Given the description of an element on the screen output the (x, y) to click on. 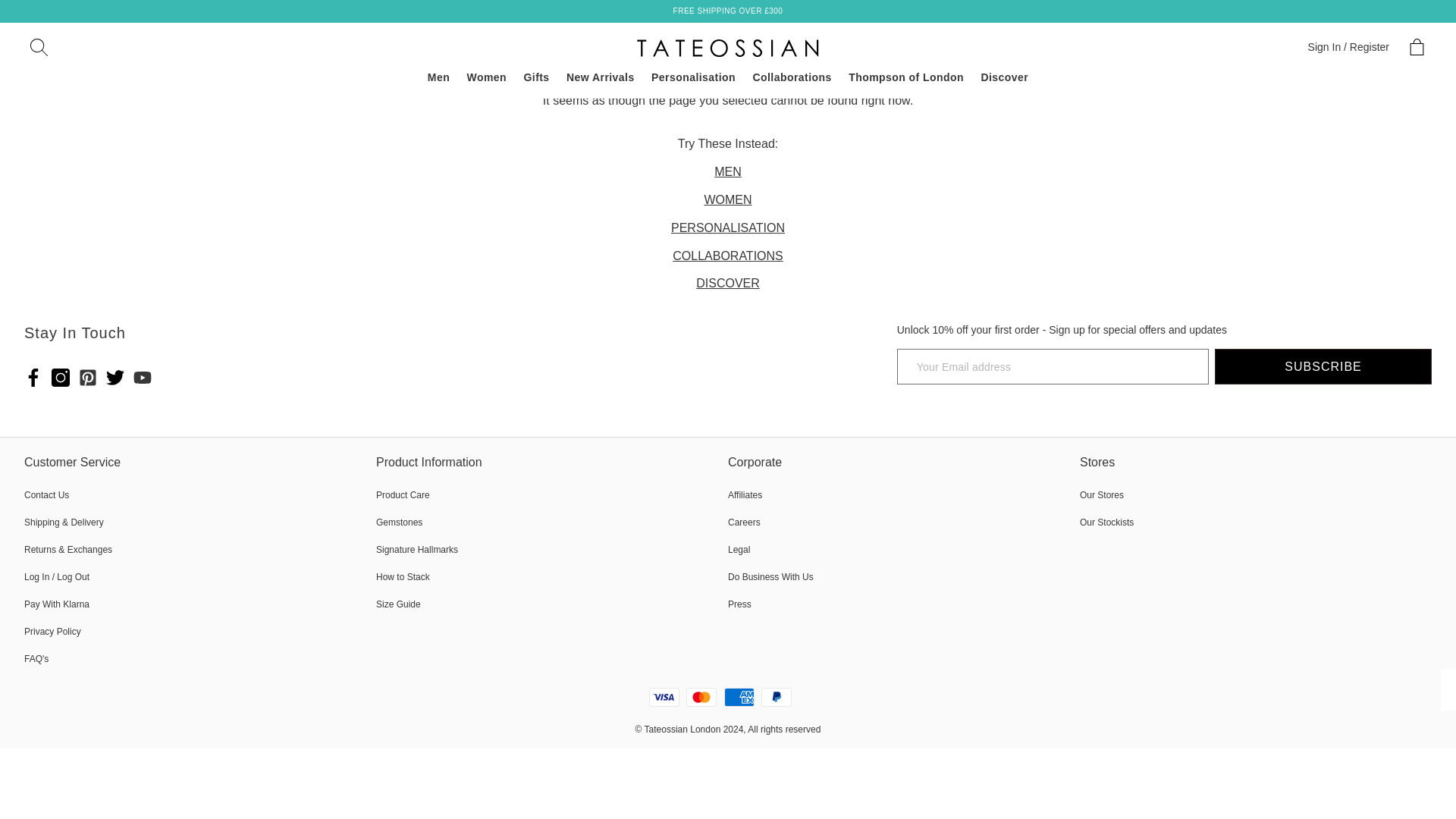
Tateossian on Pinterest (87, 377)
Tateossian on Twitter (114, 377)
Log In (1344, 46)
Tateossian on Facebook (33, 377)
Tateossian on YouTube (142, 377)
Tateossian on Instagram (59, 377)
Men (438, 77)
Subscribe (1322, 366)
